Given the description of an element on the screen output the (x, y) to click on. 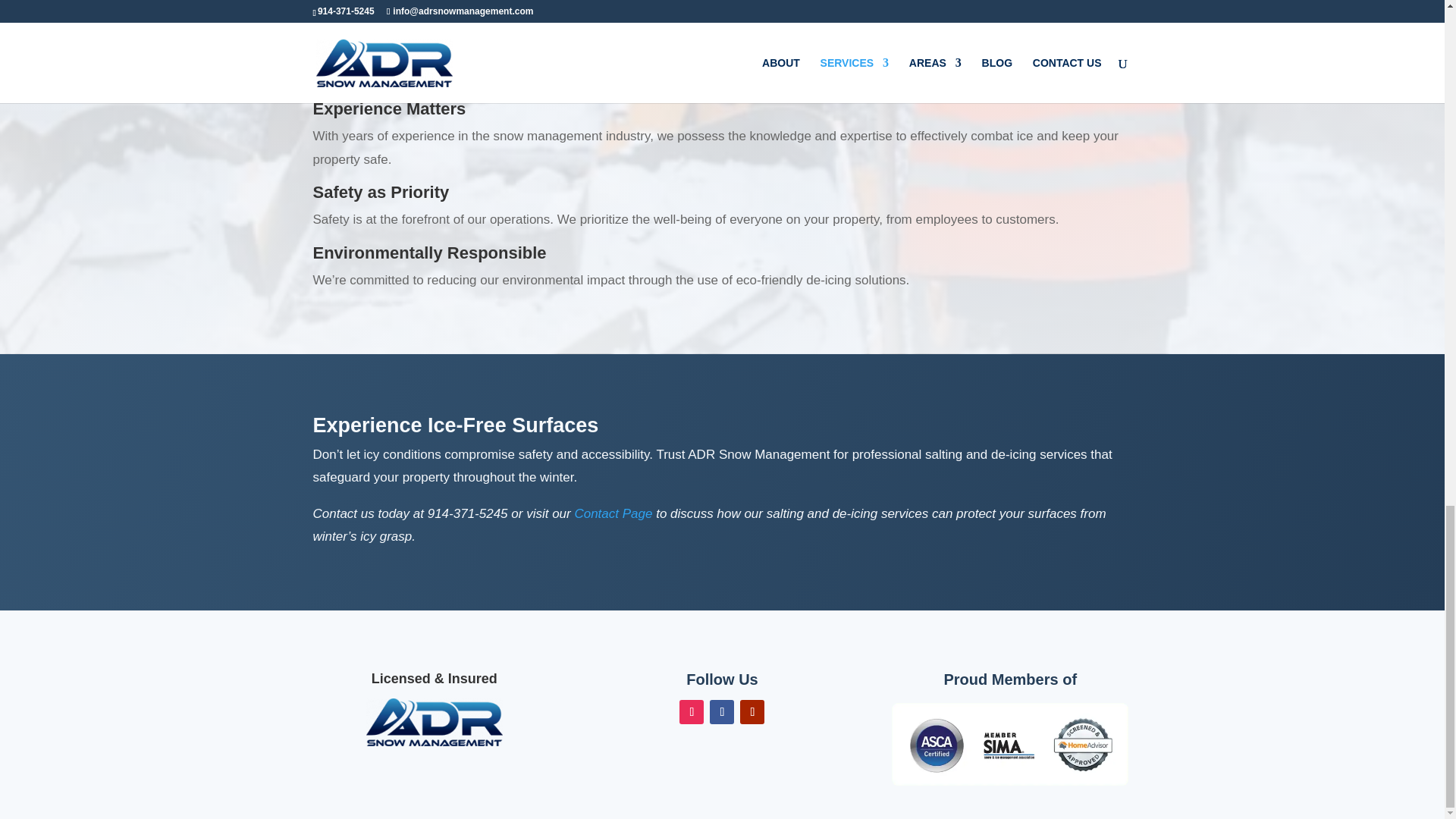
selos (1009, 744)
Contact Page (612, 513)
Follow on Instagram (691, 711)
Follow on Youtube (751, 711)
Follow on Facebook (721, 711)
